Given the description of an element on the screen output the (x, y) to click on. 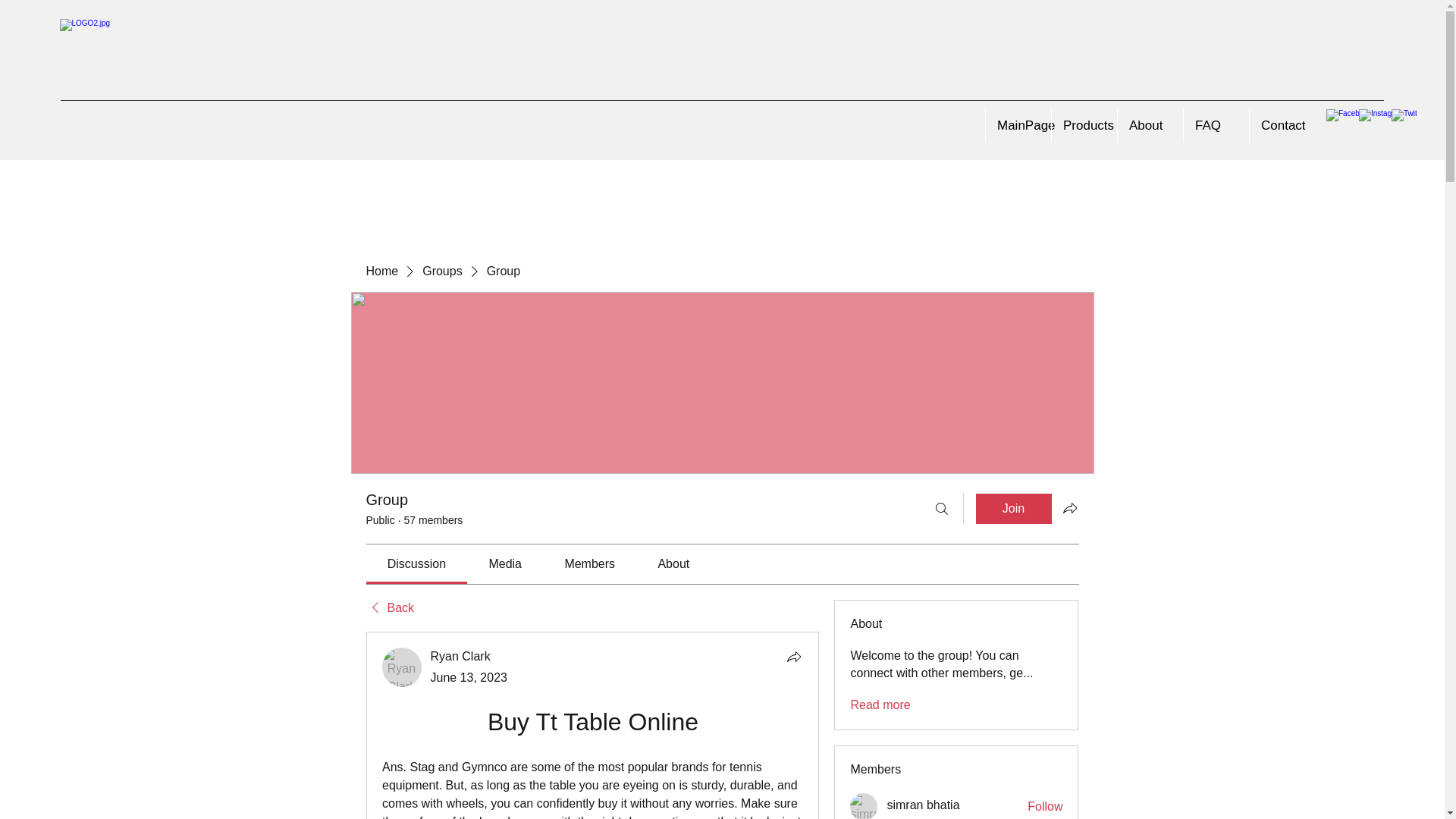
June 13, 2023 (468, 676)
Contact (1281, 125)
Groups (441, 271)
Read more (880, 704)
simran bhatia (863, 806)
About (1149, 125)
Join (1013, 508)
Back (389, 607)
simran bhatia (922, 805)
Home (381, 271)
